Given the description of an element on the screen output the (x, y) to click on. 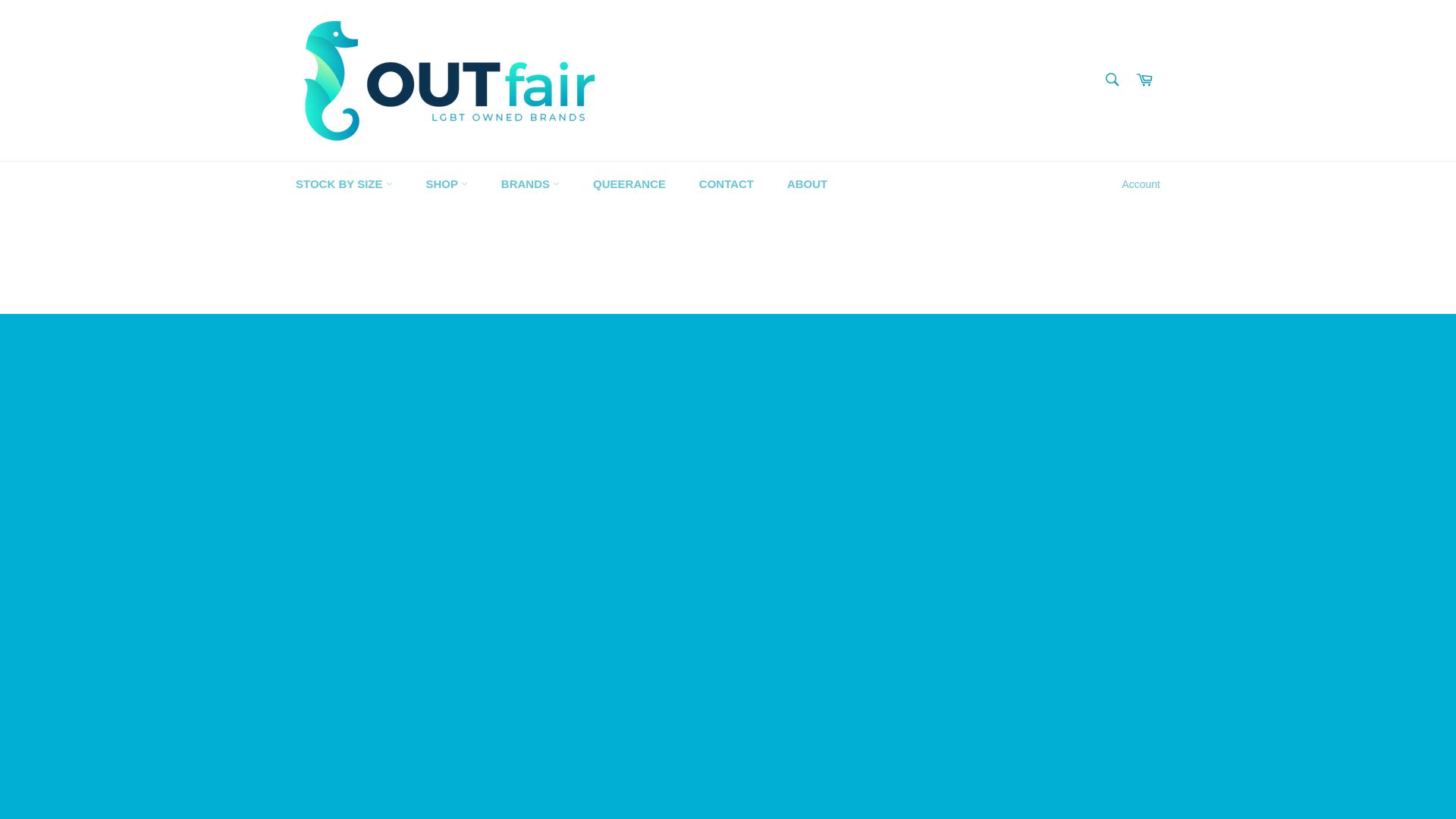
Cart (1144, 80)
Search (1111, 79)
STOCK BY SIZE (344, 184)
